Given the description of an element on the screen output the (x, y) to click on. 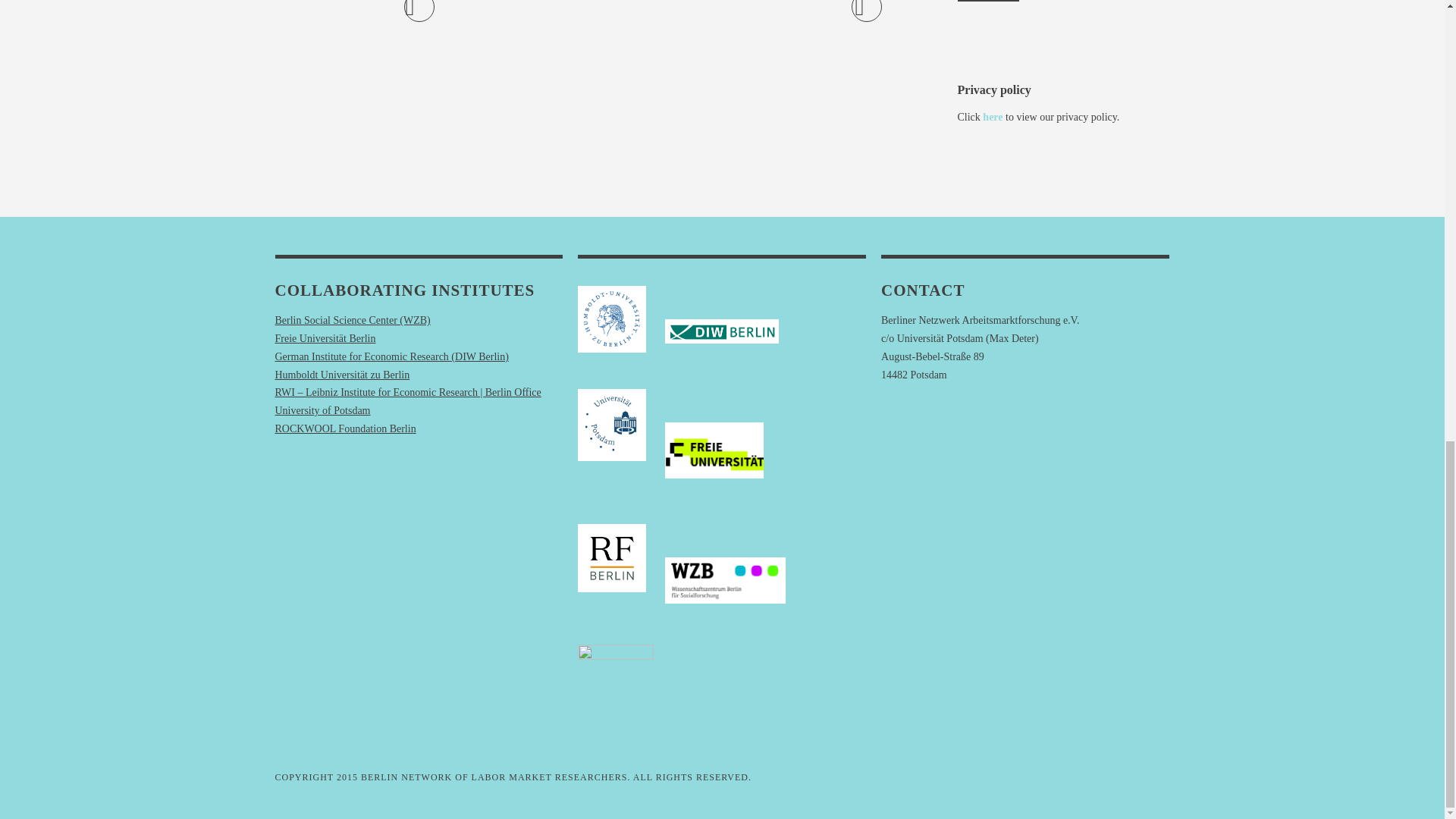
APPLY (986, 0)
here (992, 116)
University of Potsdam (322, 410)
